Given the description of an element on the screen output the (x, y) to click on. 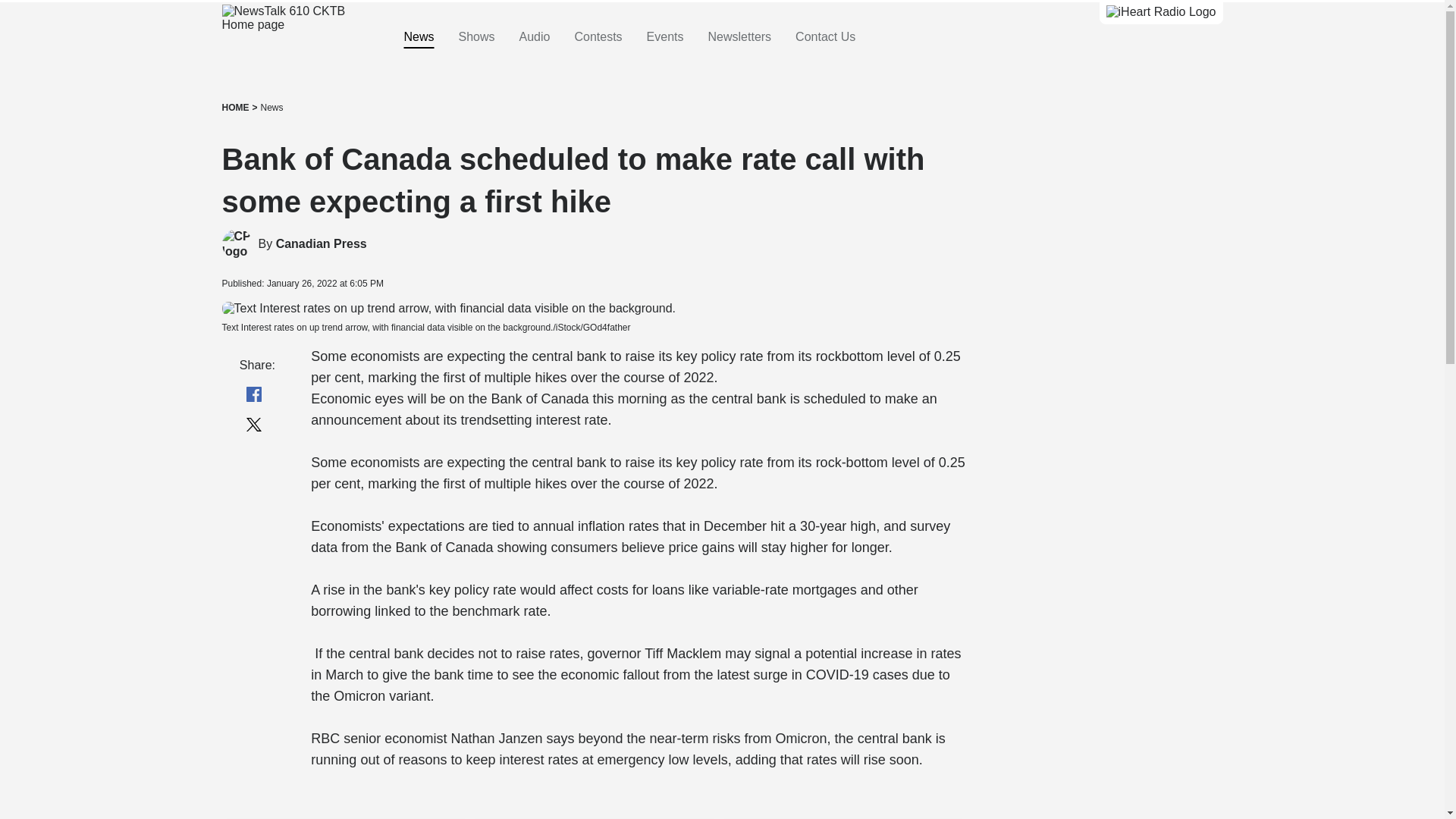
HOME (234, 107)
Contests (597, 37)
Canadian Press (321, 243)
Contact Us (825, 37)
Newsletters (739, 37)
Canadian Press (321, 243)
News (271, 107)
Canadian Press (236, 244)
